Given the description of an element on the screen output the (x, y) to click on. 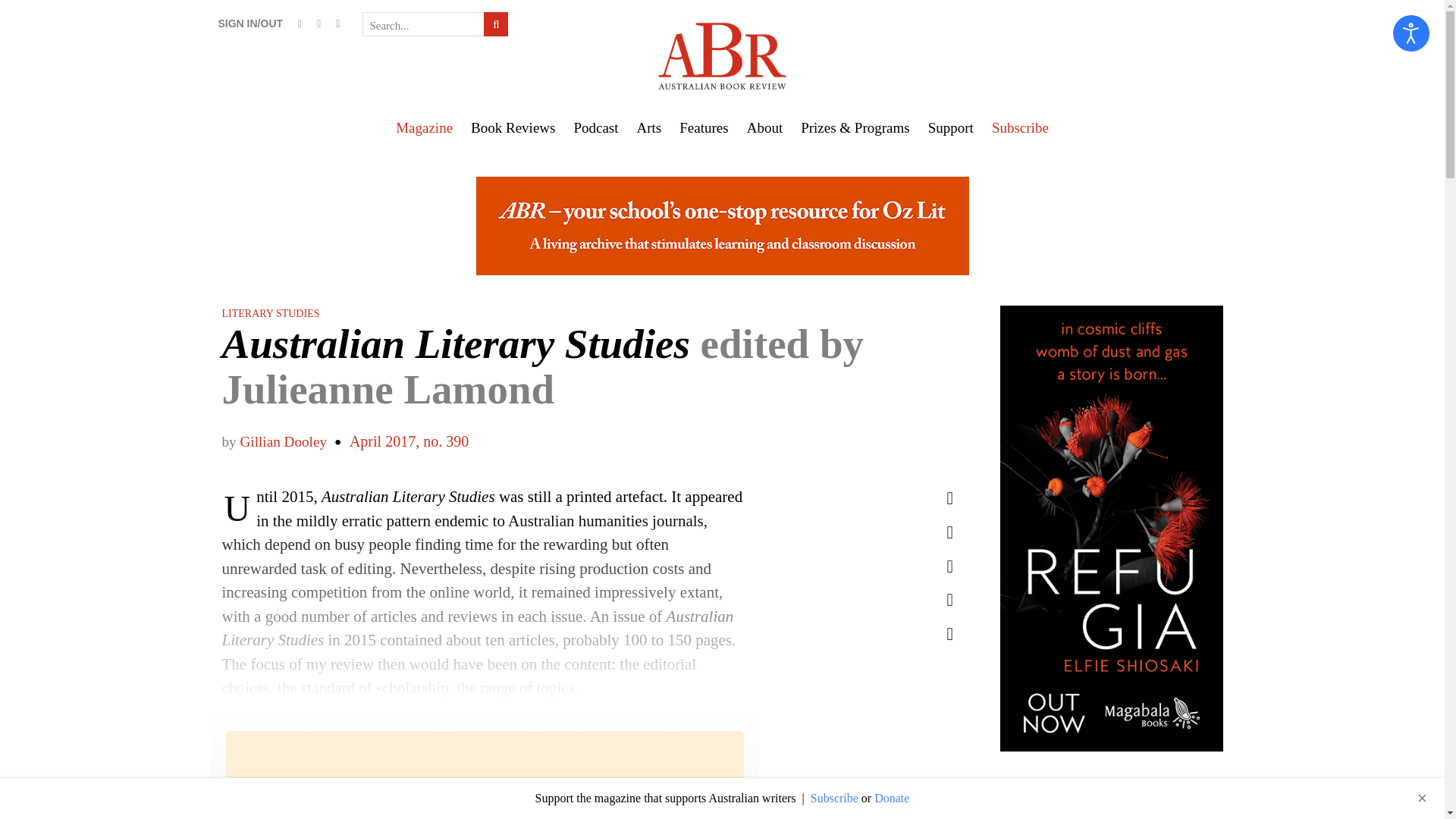
Magazine (424, 127)
Book Reviews (512, 127)
Open accessibility tools (1411, 33)
